Given the description of an element on the screen output the (x, y) to click on. 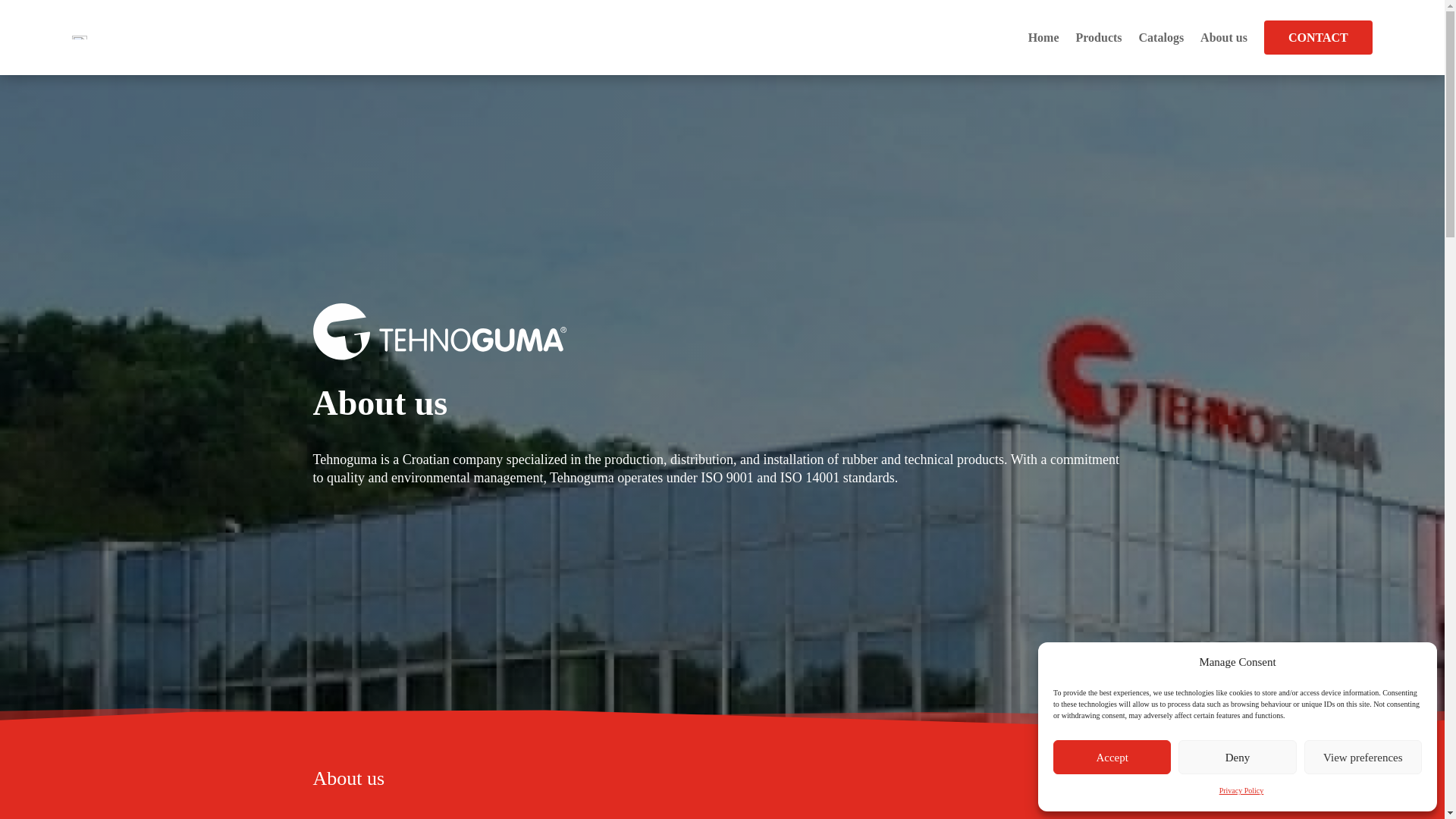
About us (1223, 36)
Privacy Policy (1241, 791)
tehnoguma-logo white (439, 331)
Home (1043, 36)
Products (1098, 36)
CONTACT (1318, 37)
Deny (1236, 756)
Accept (1111, 756)
Catalogs (1161, 36)
View preferences (1363, 756)
